Given the description of an element on the screen output the (x, y) to click on. 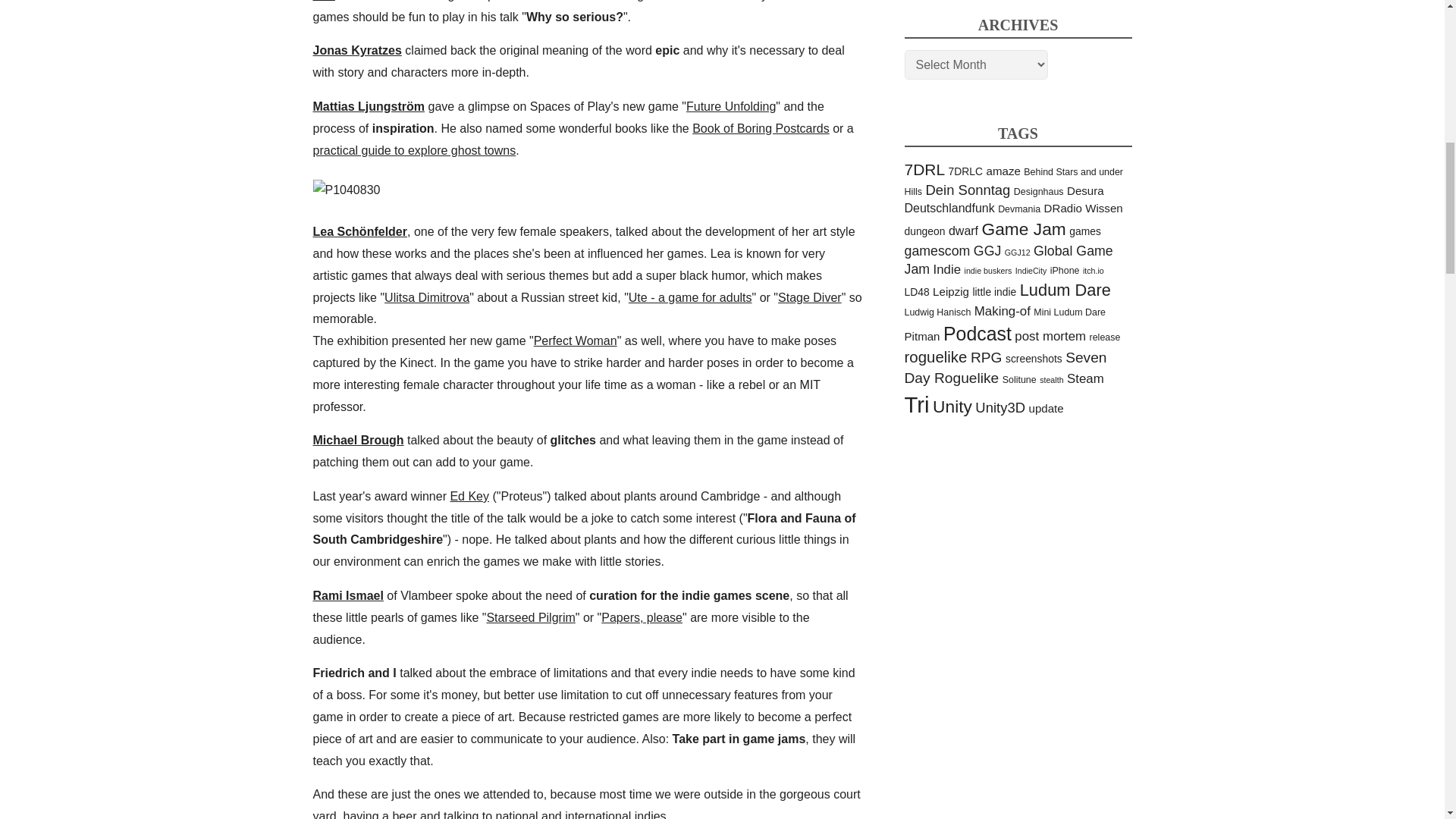
Ute - a game for adults (690, 297)
Ghost Towns (414, 150)
practical guide to explore ghost towns (414, 150)
Starseed Pilgrim (530, 617)
Boring Postcards (761, 128)
Ed Key (469, 495)
Ulitsa Dimitrova (426, 297)
Sos (323, 0)
Book of Boring Postcards (761, 128)
Future Unfolding (730, 106)
Sos (323, 0)
Rami Ismael (347, 594)
Rami blog (347, 594)
Perfect Woman (575, 340)
Spaces of Play (369, 106)
